Given the description of an element on the screen output the (x, y) to click on. 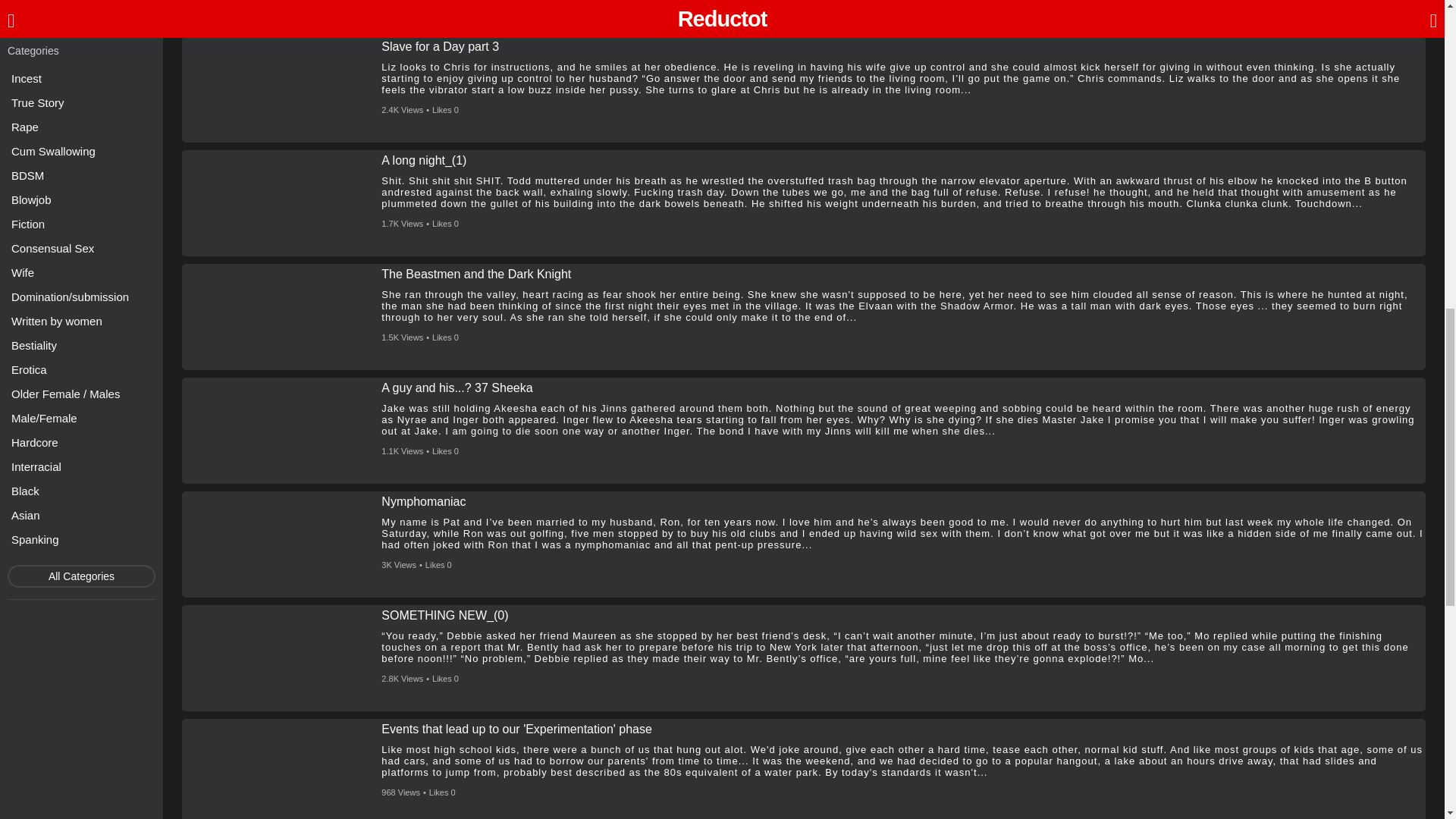
A guy and his...? 37 Sheeka (456, 387)
Nymphomaniac (423, 501)
The Beastmen and the Dark Knight (475, 274)
Slave for a Day part 3 (440, 47)
